Given the description of an element on the screen output the (x, y) to click on. 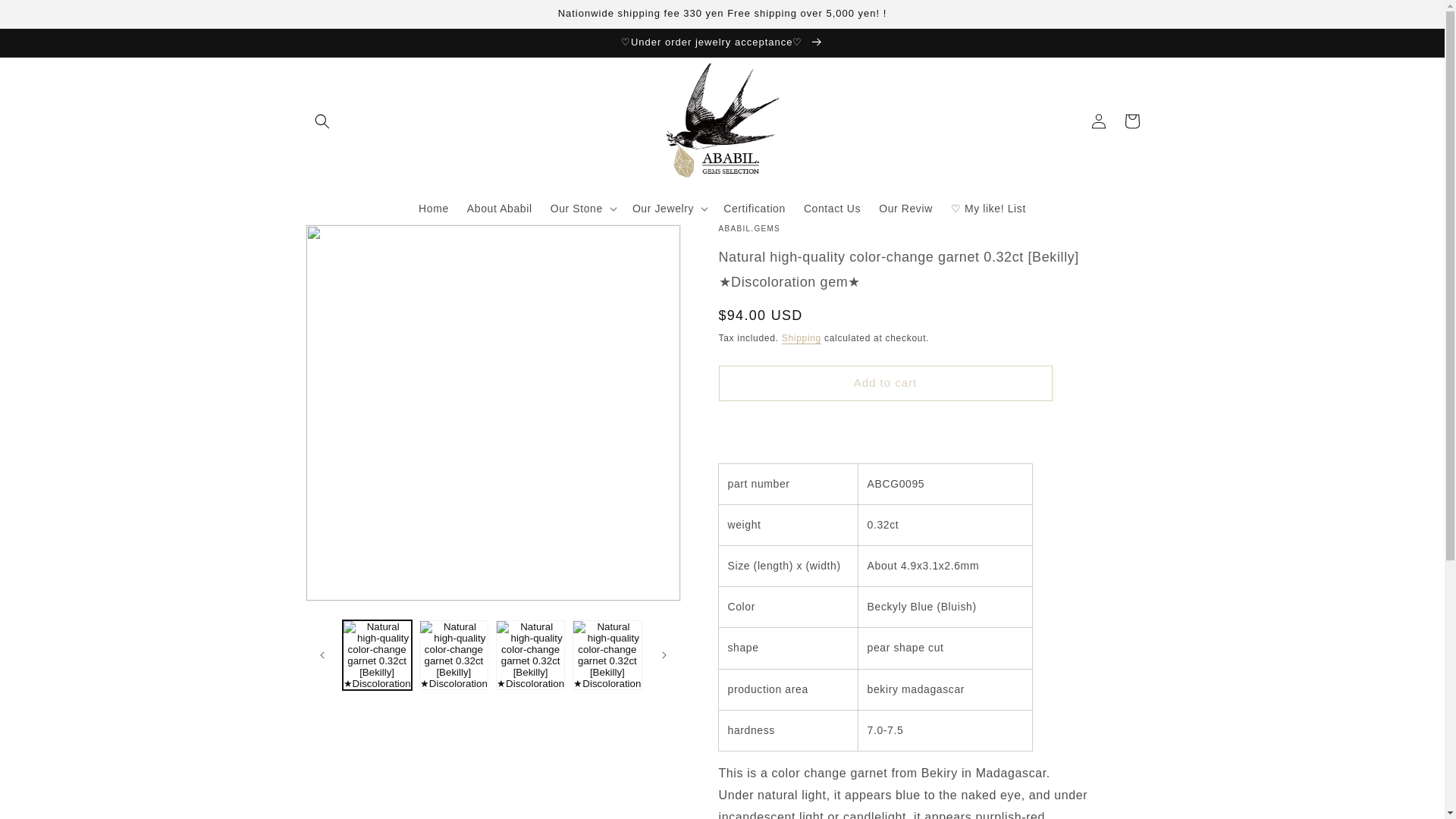
Skip to content (45, 17)
